Given the description of an element on the screen output the (x, y) to click on. 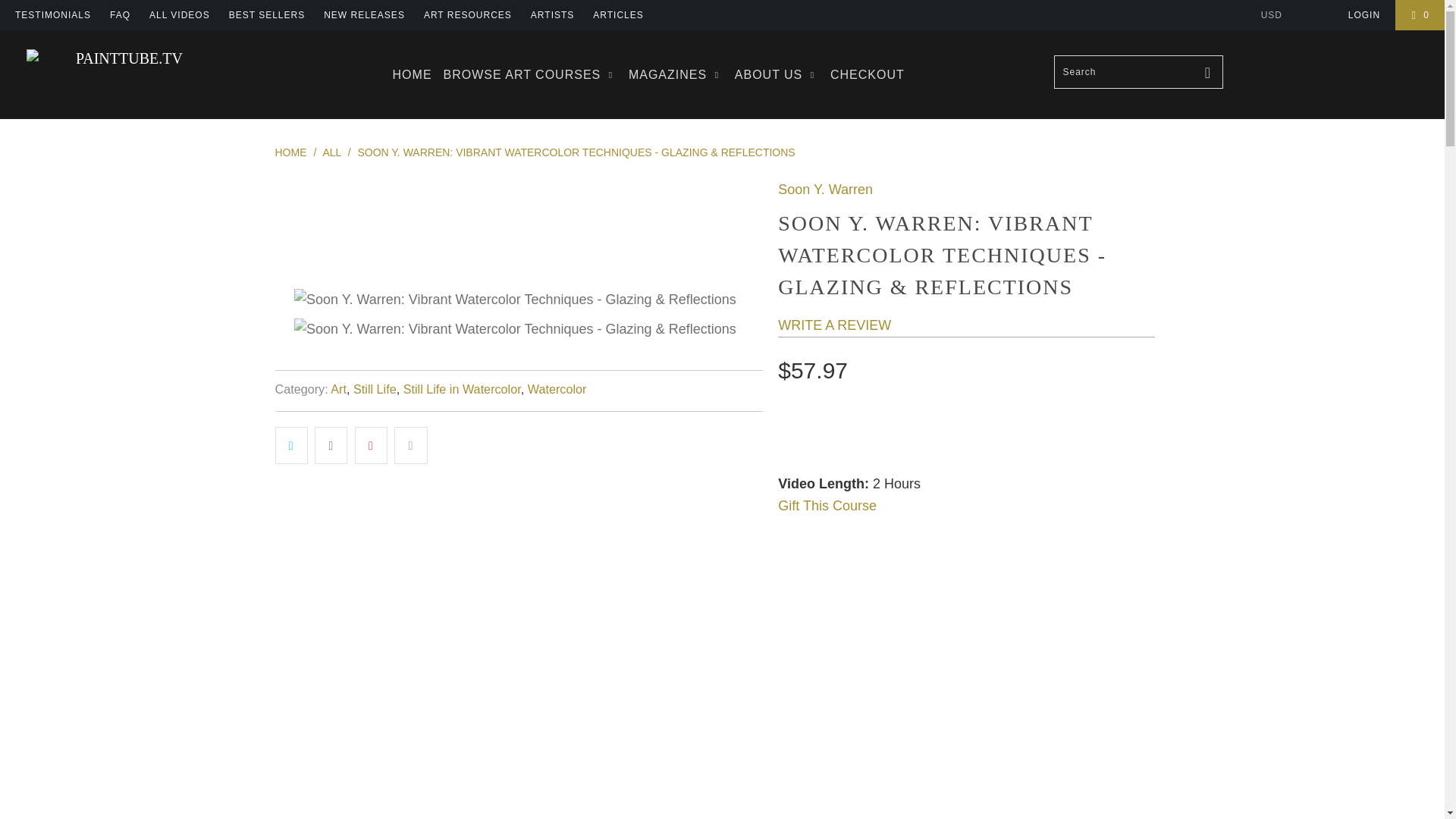
My Account  (1363, 15)
BEST SELLERS (266, 15)
HOME (412, 74)
PaintTube.tv (122, 58)
ARTISTS (552, 15)
ARTICLES (617, 15)
Products tagged Art (338, 388)
Products tagged Watercolor (556, 388)
LOGIN (1363, 15)
ALL VIDEOS (179, 15)
